Given the description of an element on the screen output the (x, y) to click on. 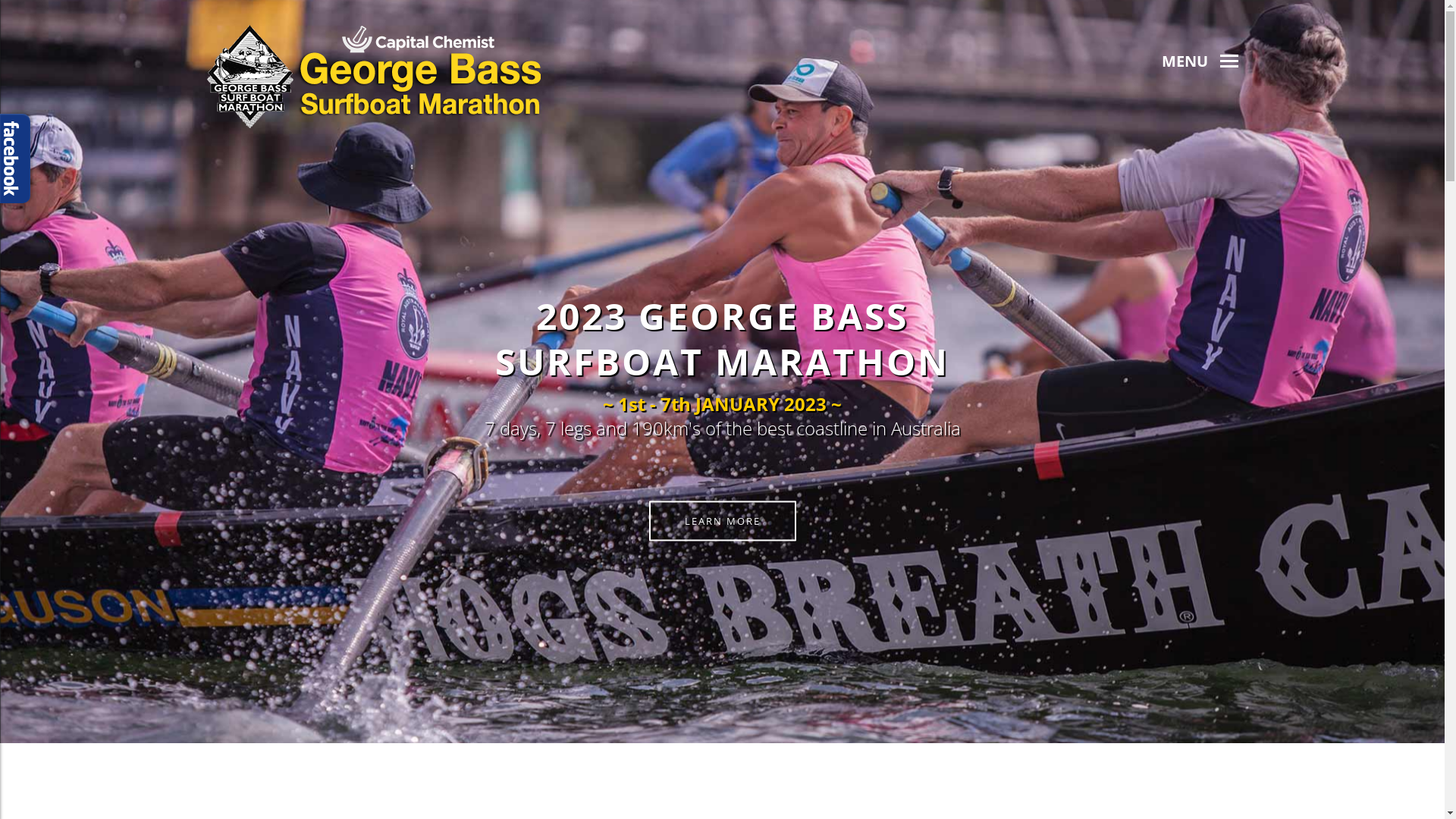
LEARN MORE Element type: text (722, 520)
